Given the description of an element on the screen output the (x, y) to click on. 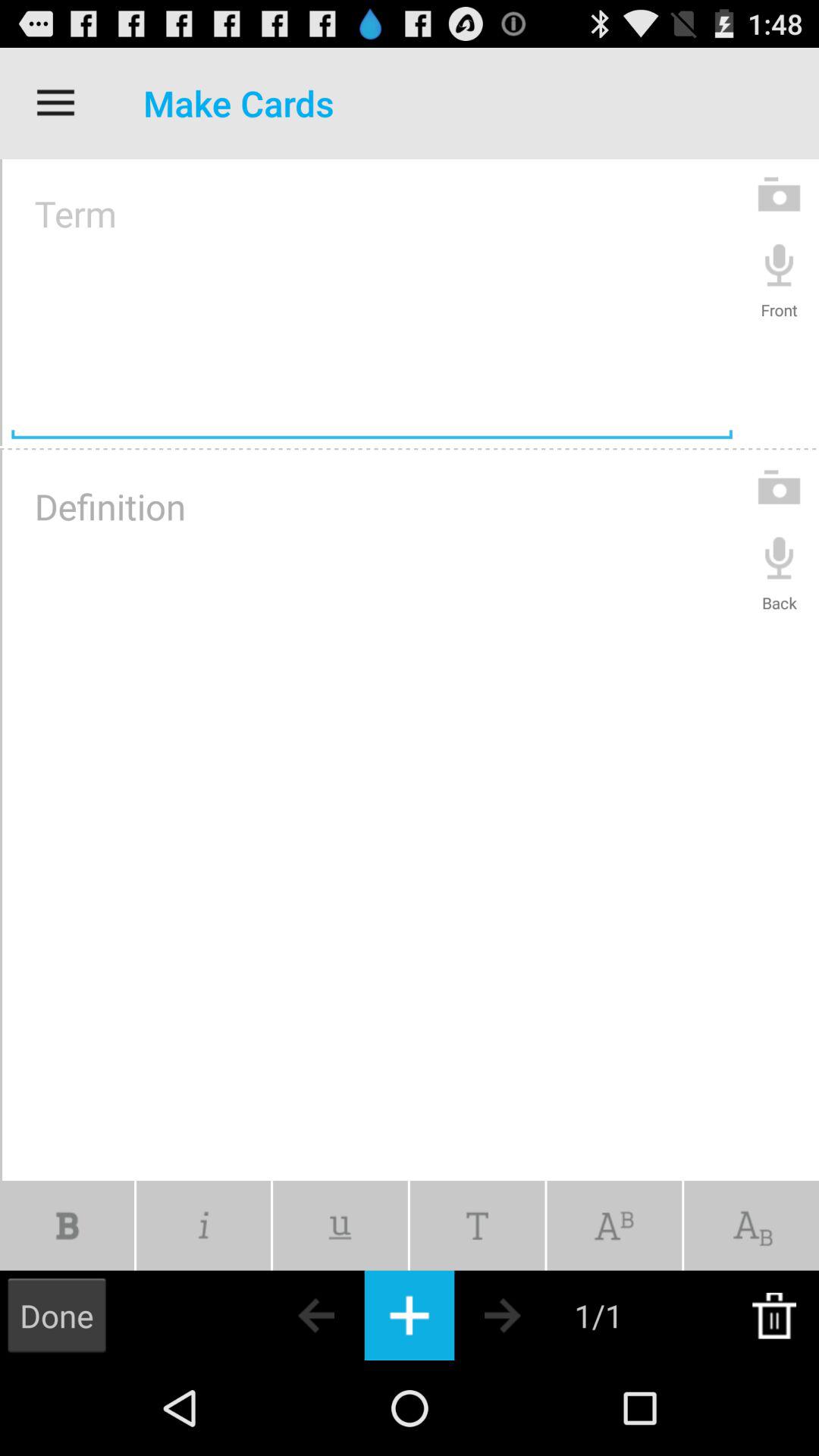
instesd of take a photo use camera (779, 487)
